Given the description of an element on the screen output the (x, y) to click on. 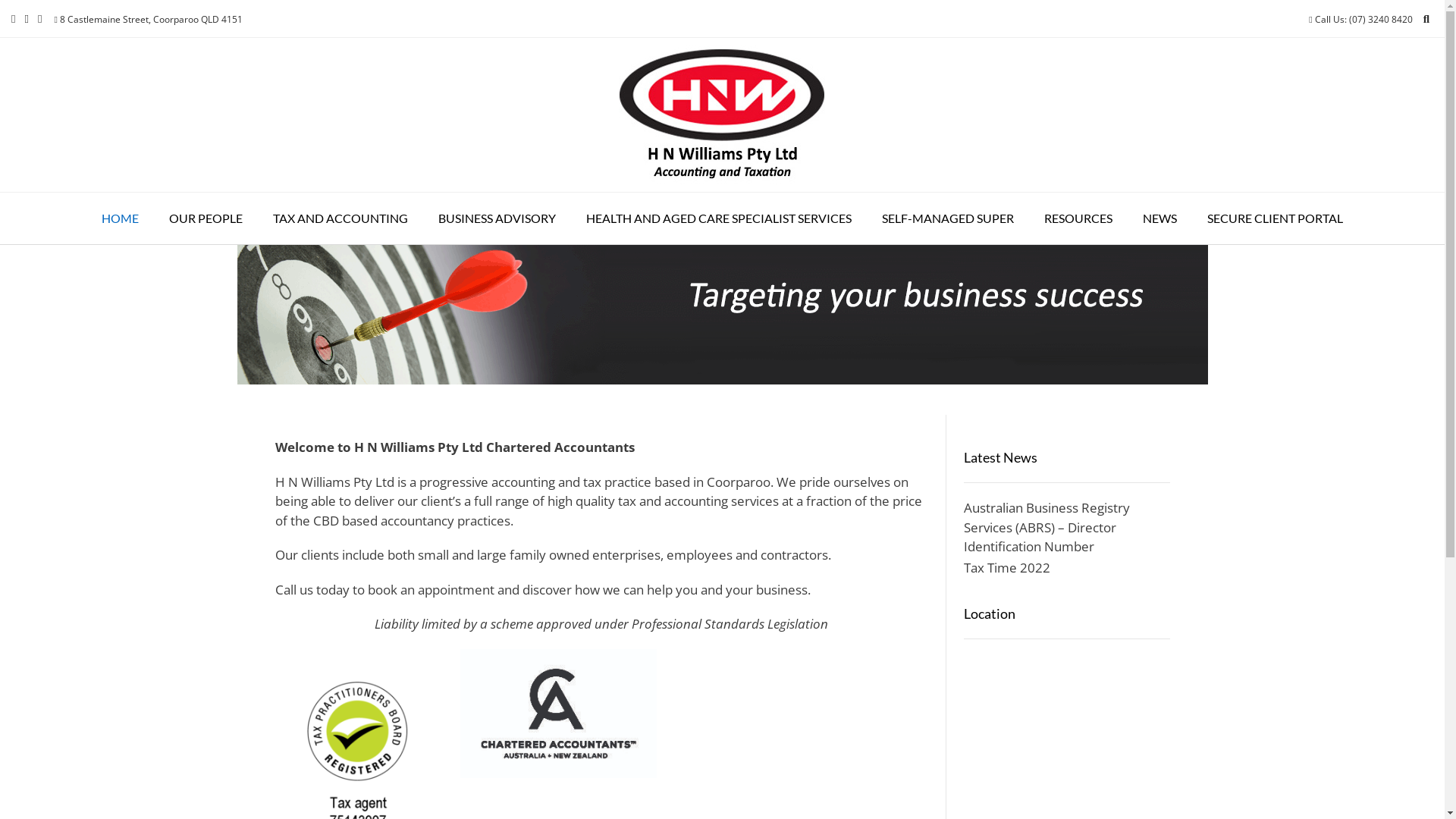
HEALTH AND AGED CARE SPECIALIST SERVICES Element type: text (718, 218)
SECURE CLIENT PORTAL Element type: text (1275, 218)
TAX AND ACCOUNTING Element type: text (340, 218)
RESOURCES Element type: text (1078, 218)
Find Us on LinkedIn Element type: hover (39, 19)
Find Us on Facebook Element type: hover (26, 19)
HOME Element type: text (119, 218)
OUR PEOPLE Element type: text (205, 218)
Send Us an Email Element type: hover (13, 19)
Tax Time 2022 Element type: text (1006, 566)
H N Williams Pty Ltd Element type: hover (721, 114)
BUSINESS ADVISORY Element type: text (497, 218)
SELF-MANAGED SUPER Element type: text (947, 218)
NEWS Element type: text (1159, 218)
